Given the description of an element on the screen output the (x, y) to click on. 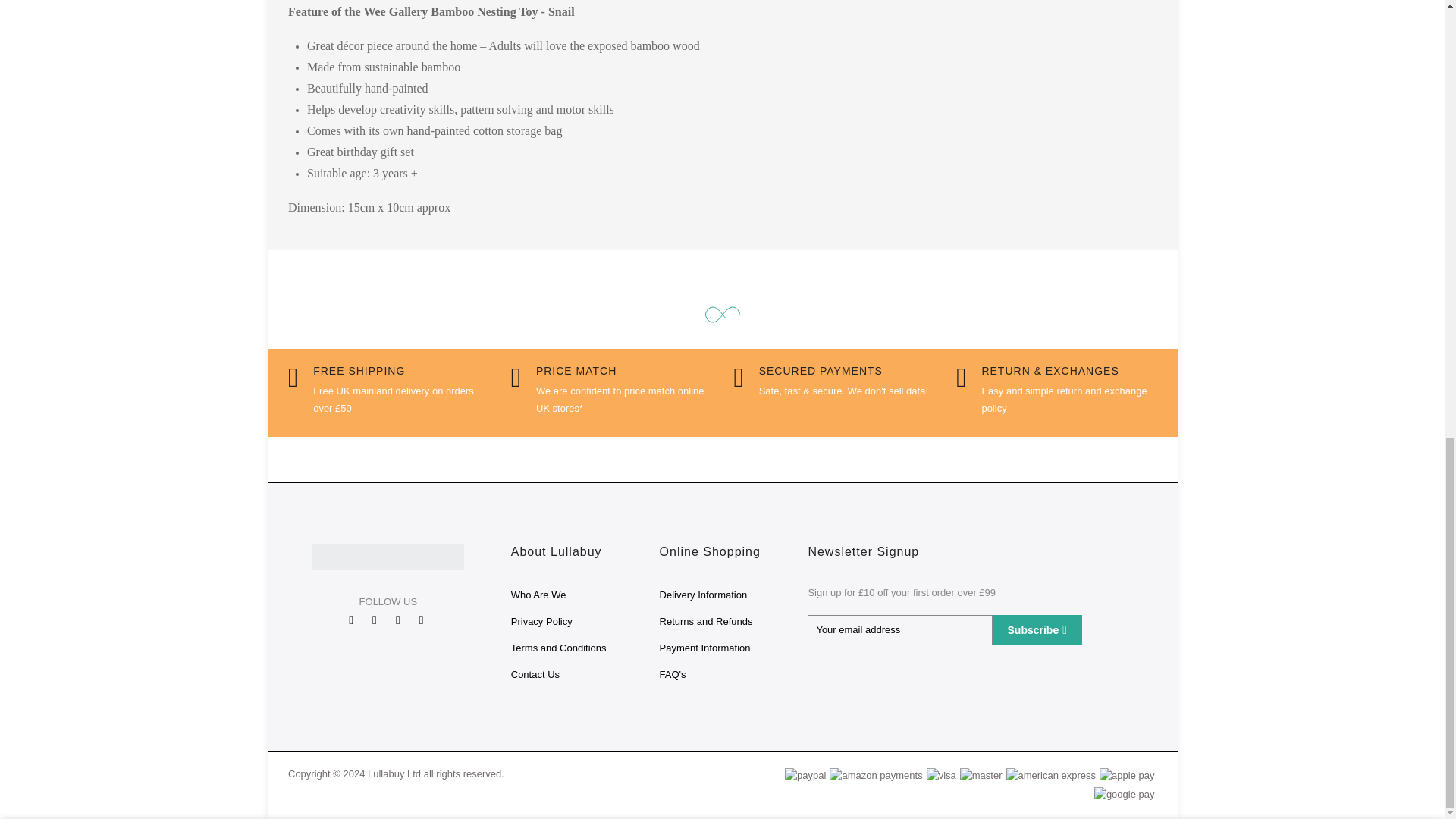
Who Are We (538, 594)
Terms and Conditions (559, 647)
Privacy Policy (541, 621)
